Given the description of an element on the screen output the (x, y) to click on. 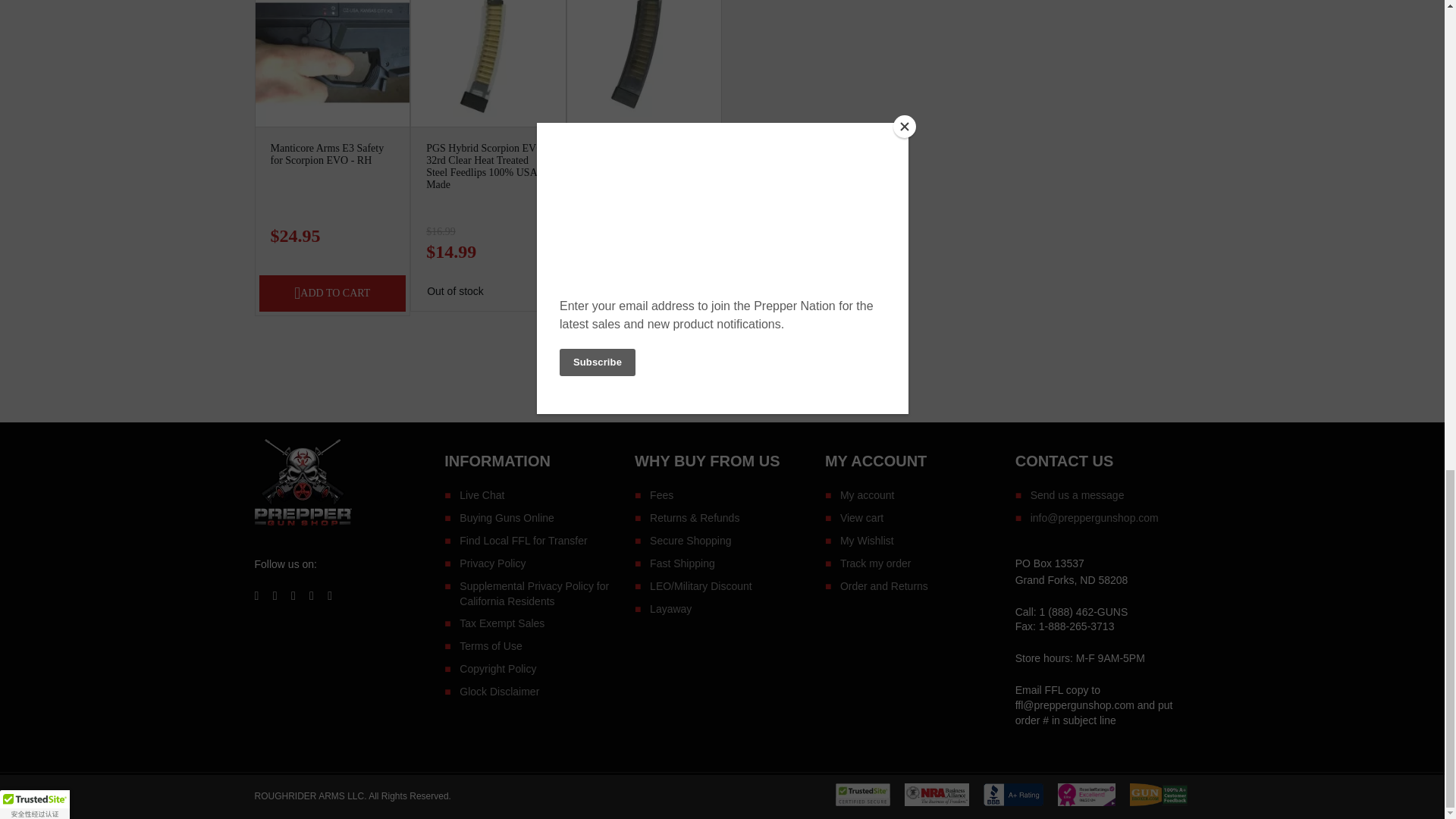
Elite Reseller (1087, 802)
Gun Broker (1158, 802)
Add to Cart (332, 293)
BBB Accredited Business (1013, 802)
Manticore Arms E3 Safety for Scorpion EVO - RH (326, 154)
